Given the description of an element on the screen output the (x, y) to click on. 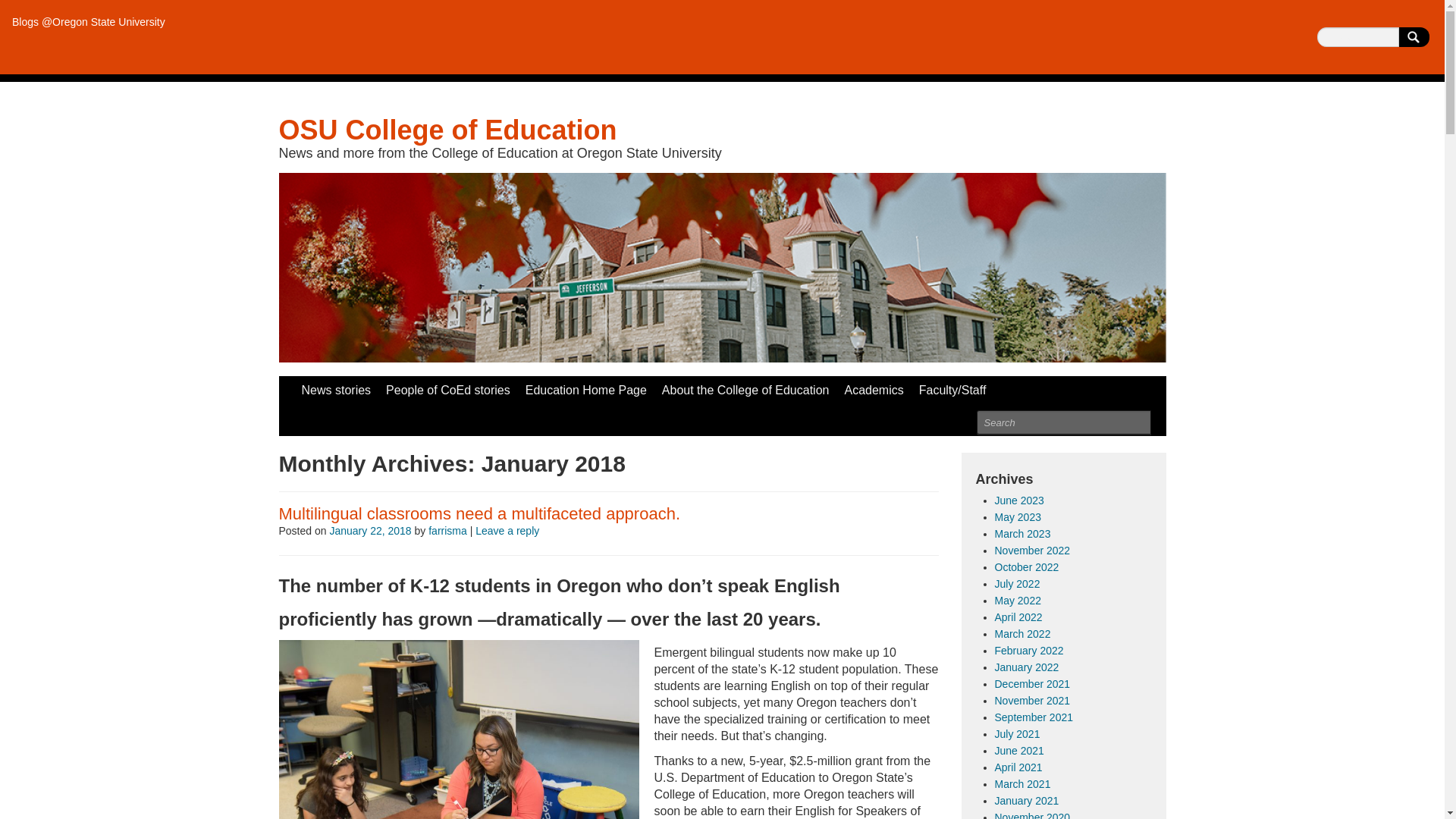
Academics (873, 390)
4:45 pm (369, 530)
Education Home Page (585, 390)
June 2023 (1018, 500)
News stories (336, 390)
May 2022 (1017, 600)
OSU College of Education (448, 129)
Skip to primary content (341, 384)
January 22, 2018 (369, 530)
About the College of Education (745, 390)
Skip to secondary content (349, 384)
View all posts by farrisma (447, 530)
farrisma (447, 530)
April 2022 (1018, 616)
